Given the description of an element on the screen output the (x, y) to click on. 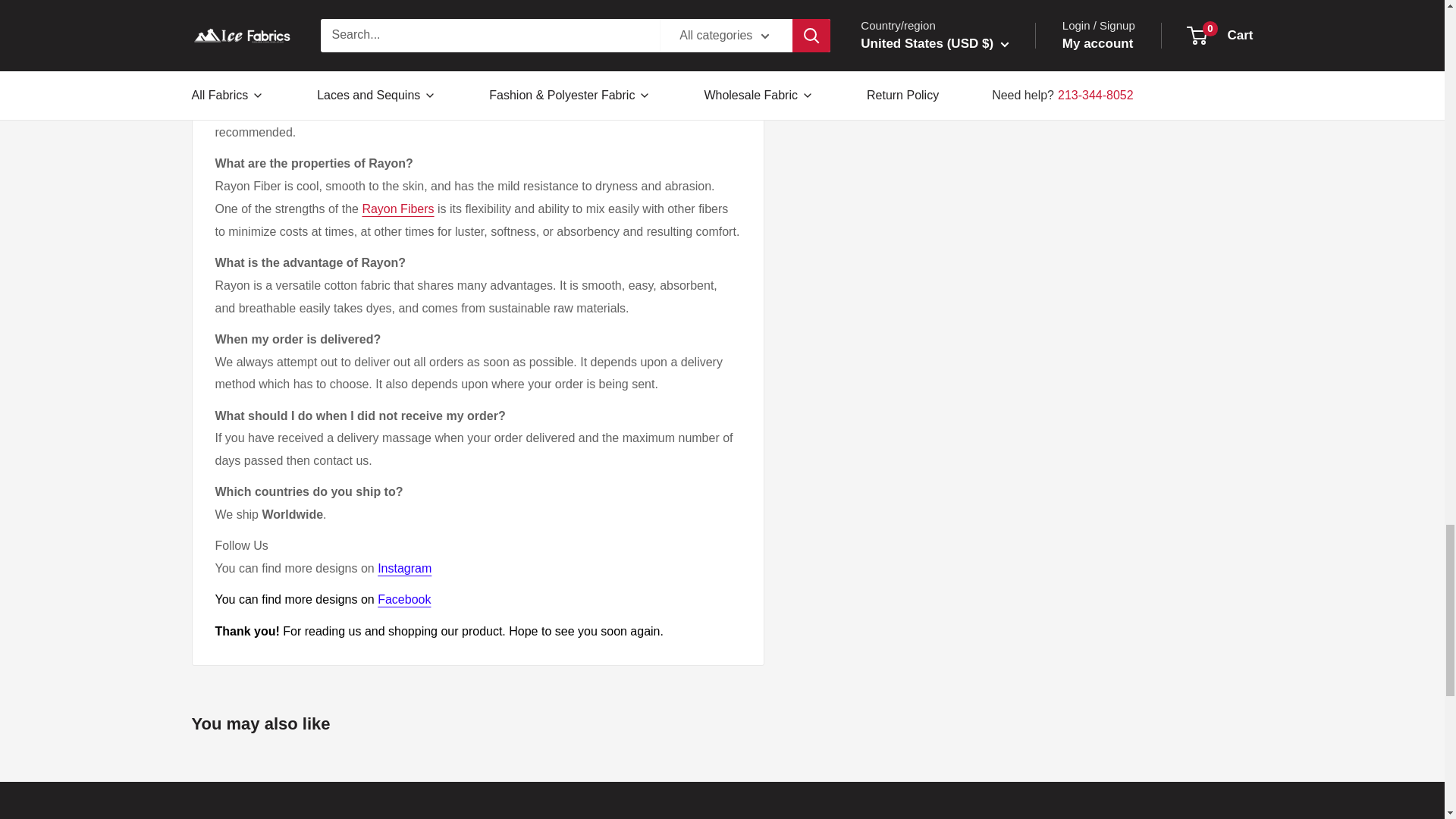
Facebook - IceFabrics (403, 599)
Polymerdatabase.com (397, 208)
Instagram - IceFabrics (403, 567)
